Given the description of an element on the screen output the (x, y) to click on. 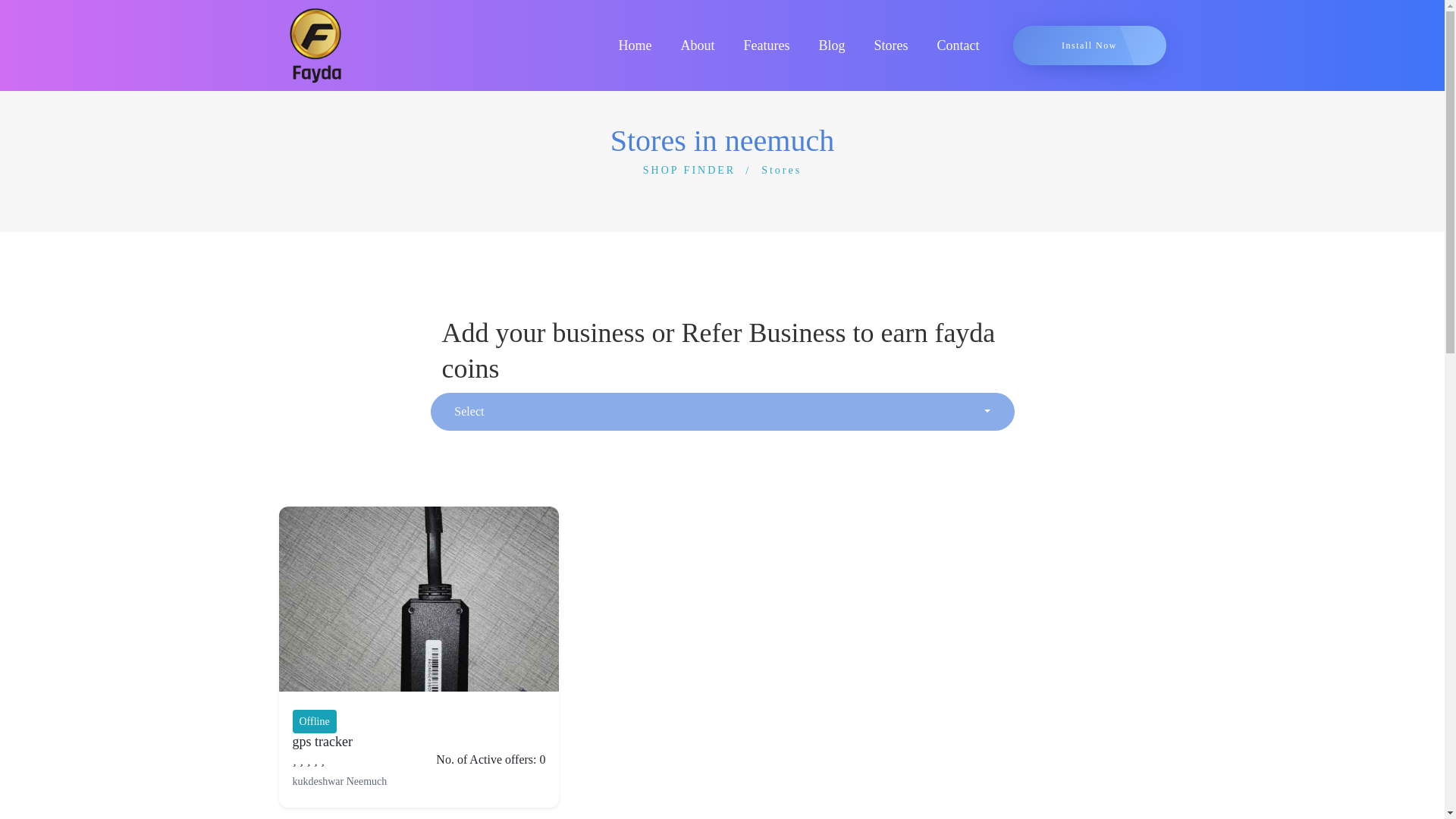
Features (767, 45)
Stores (781, 170)
Select (722, 411)
Features (767, 45)
Contact (956, 45)
SHOP FINDER (677, 170)
Install Now (1089, 45)
